Given the description of an element on the screen output the (x, y) to click on. 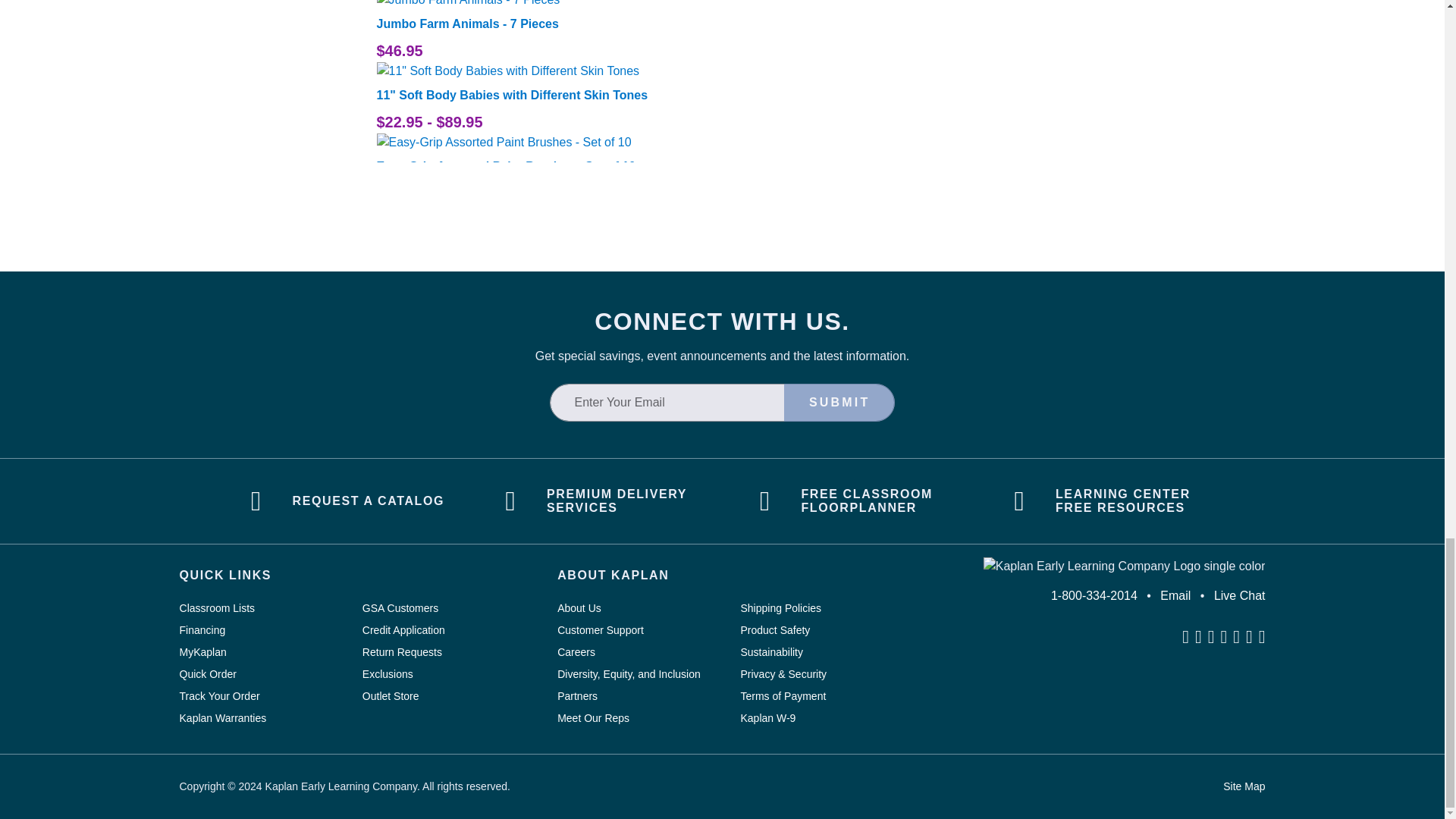
Start a Live Chat with a Kaplan agent (1239, 594)
